Given the description of an element on the screen output the (x, y) to click on. 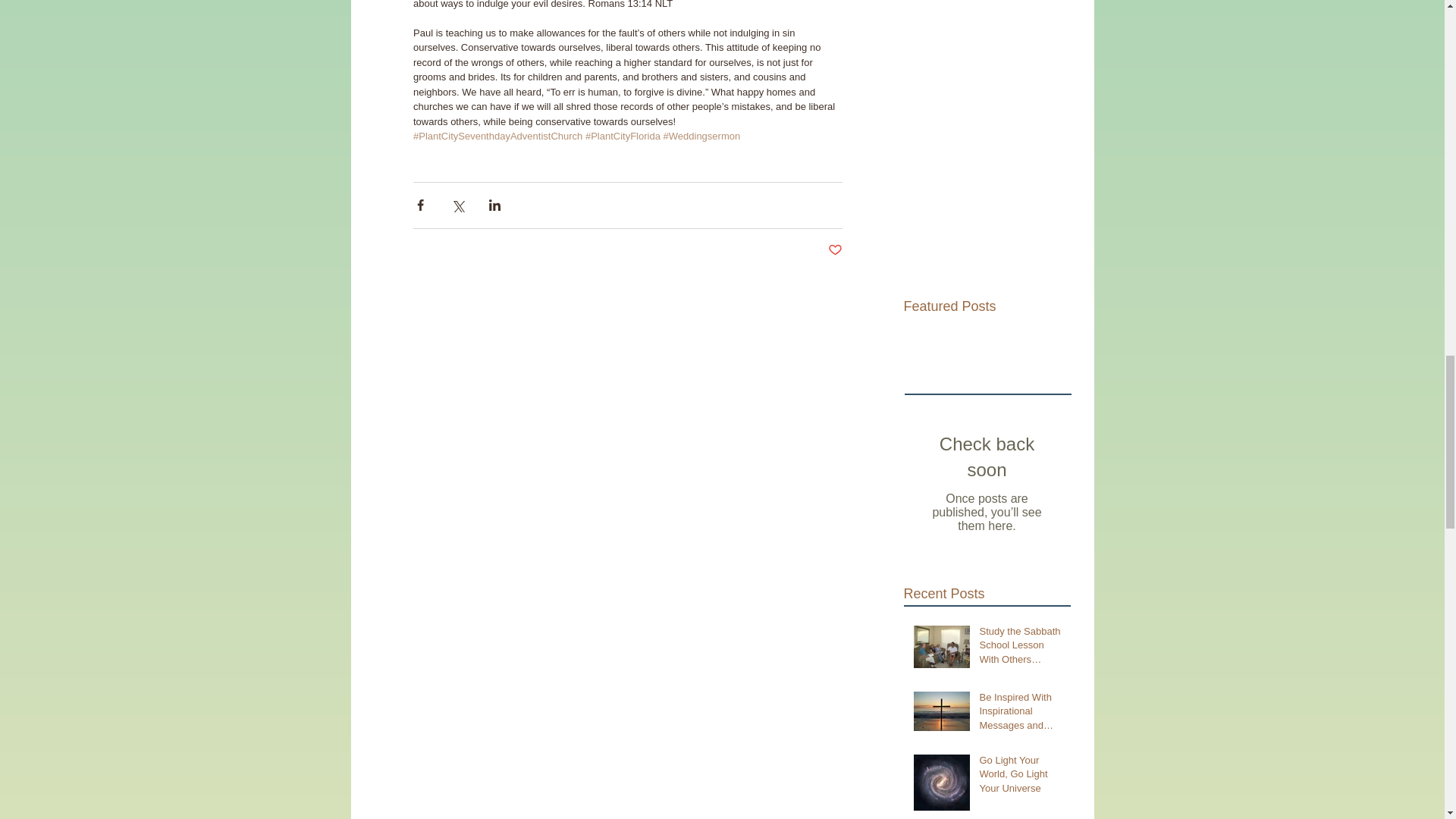
Post not marked as liked (835, 250)
Study the Sabbath School Lesson With Others Around the World (1020, 648)
Go Light Your World, Go Light Your Universe (1020, 777)
